Given the description of an element on the screen output the (x, y) to click on. 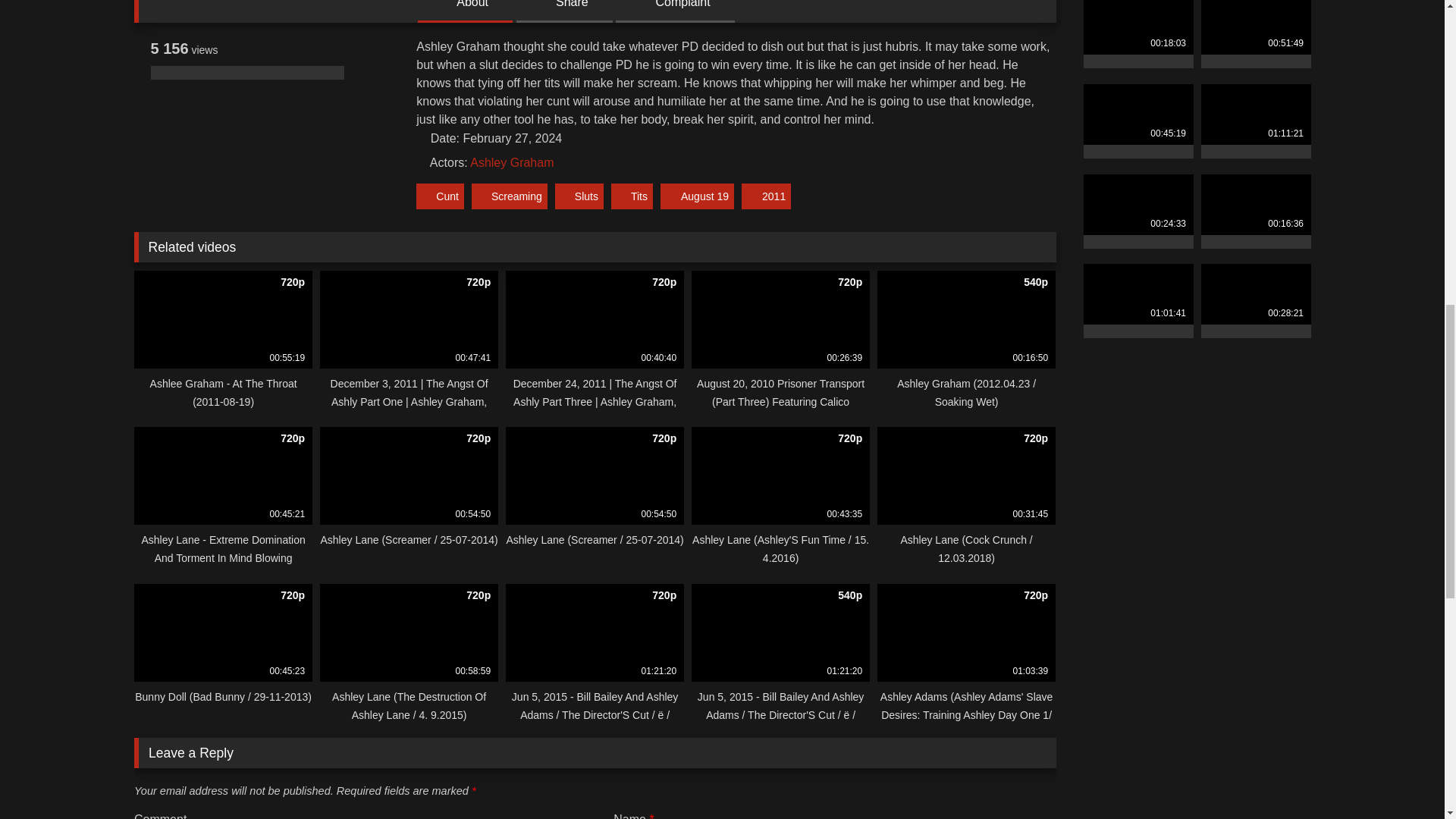
Complaint (675, 4)
Tits (631, 196)
Screaming (509, 196)
Ashley Graham (511, 162)
2011 (765, 196)
Cunt (440, 196)
August 19 (697, 196)
Sluts (579, 196)
